Given the description of an element on the screen output the (x, y) to click on. 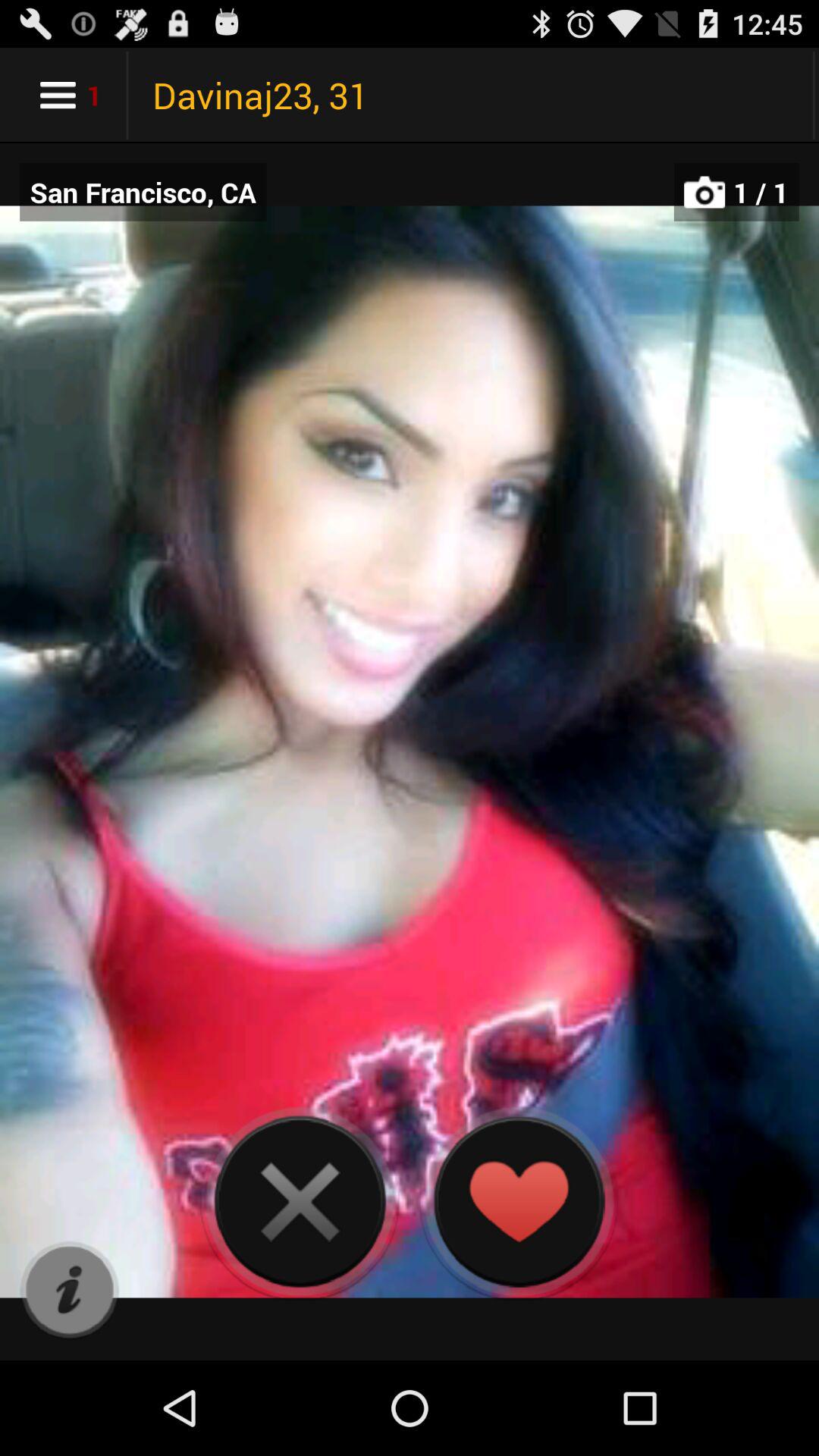
turn on the app below the san francisco, ca app (69, 1290)
